Given the description of an element on the screen output the (x, y) to click on. 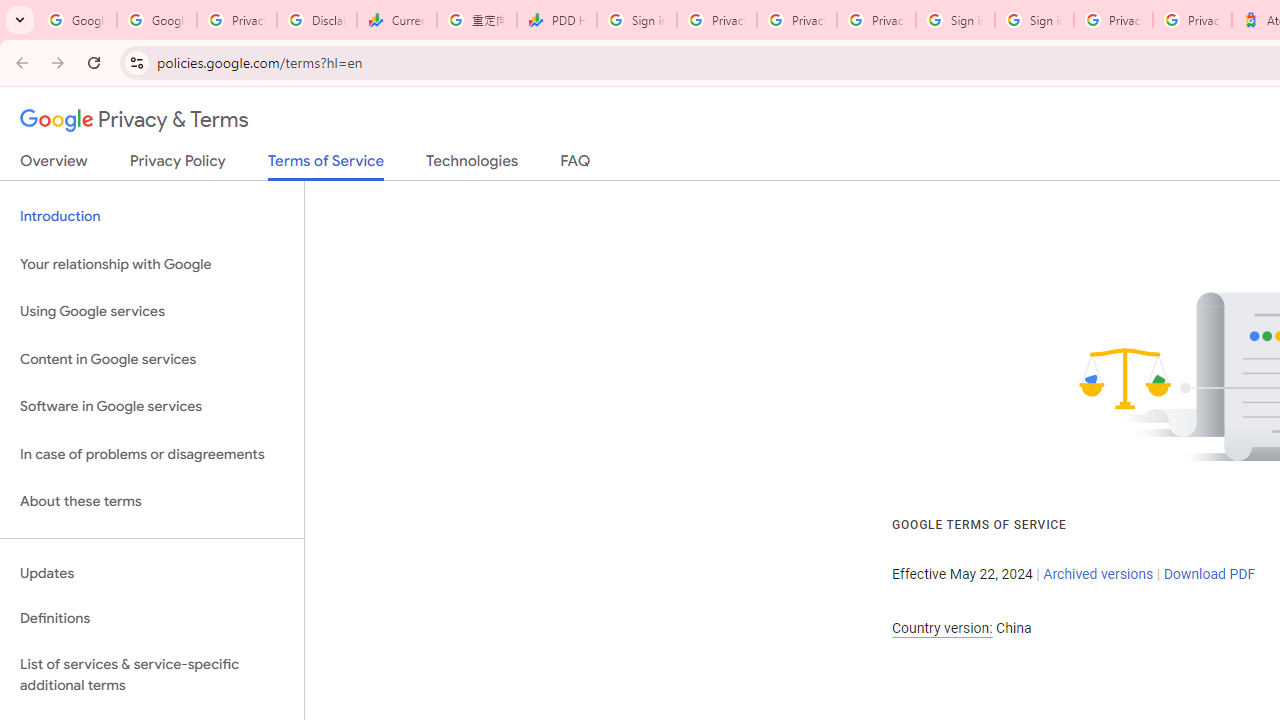
Software in Google services (152, 407)
Privacy Checkup (796, 20)
Sign in - Google Accounts (1033, 20)
About these terms (152, 502)
Sign in - Google Accounts (955, 20)
Using Google services (152, 312)
